Given the description of an element on the screen output the (x, y) to click on. 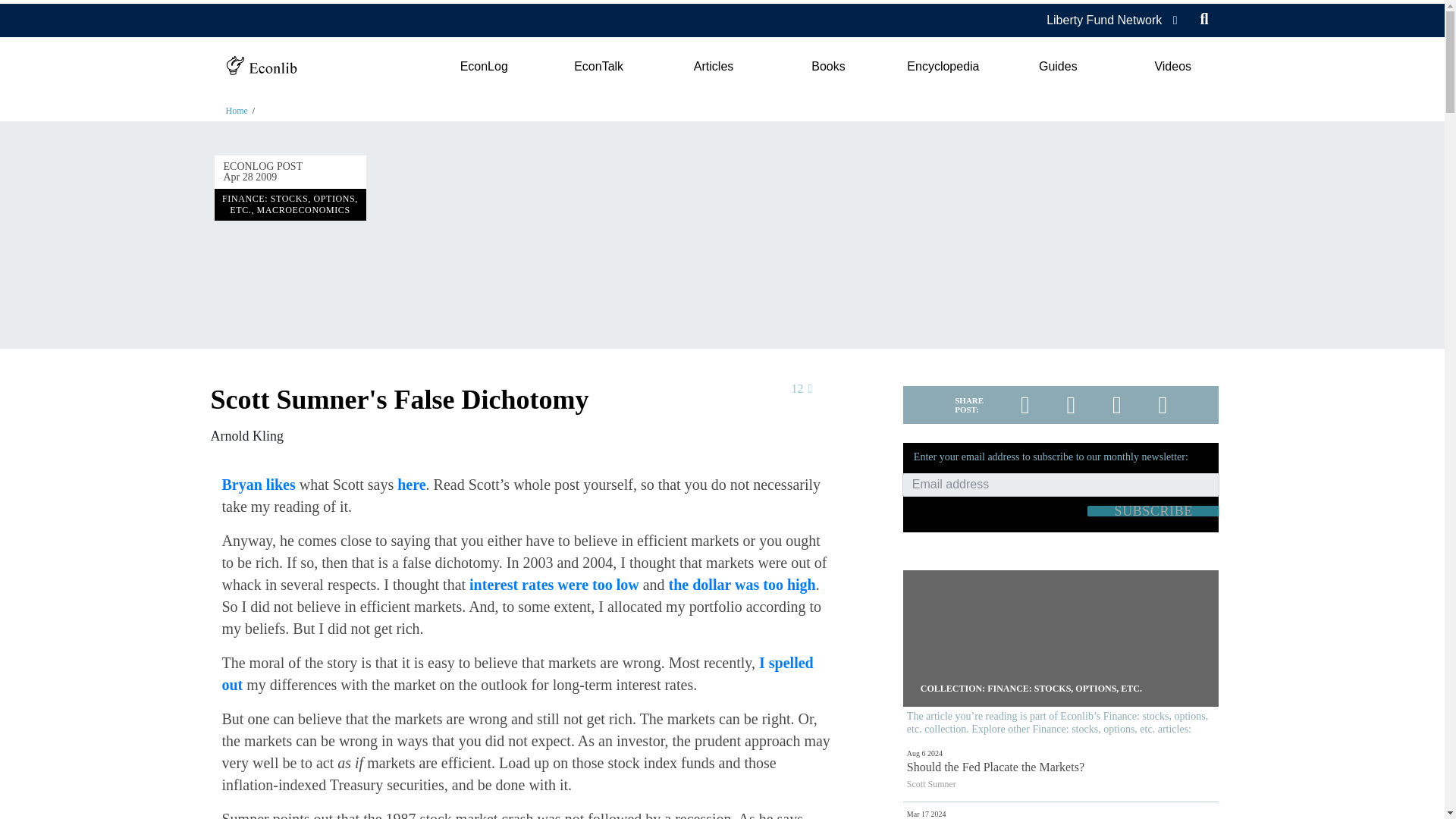
EconTalk (598, 66)
Arnold Kling (247, 435)
Encyclopedia (942, 66)
Books (828, 66)
Liberty Fund Network (1104, 20)
Articles (713, 66)
Subscribe (1153, 511)
EconLog (483, 66)
